Given the description of an element on the screen output the (x, y) to click on. 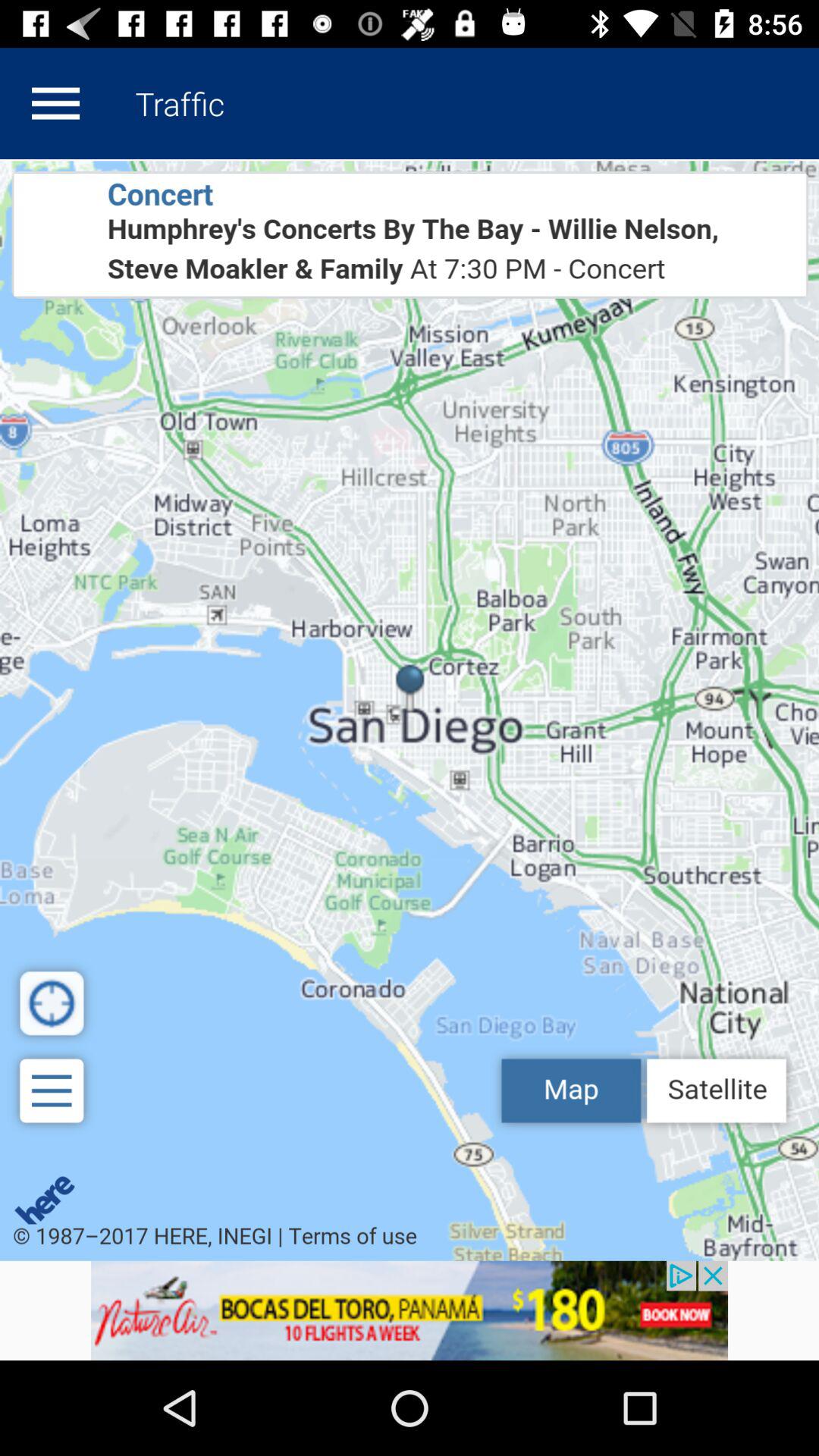
open menu (55, 103)
